Given the description of an element on the screen output the (x, y) to click on. 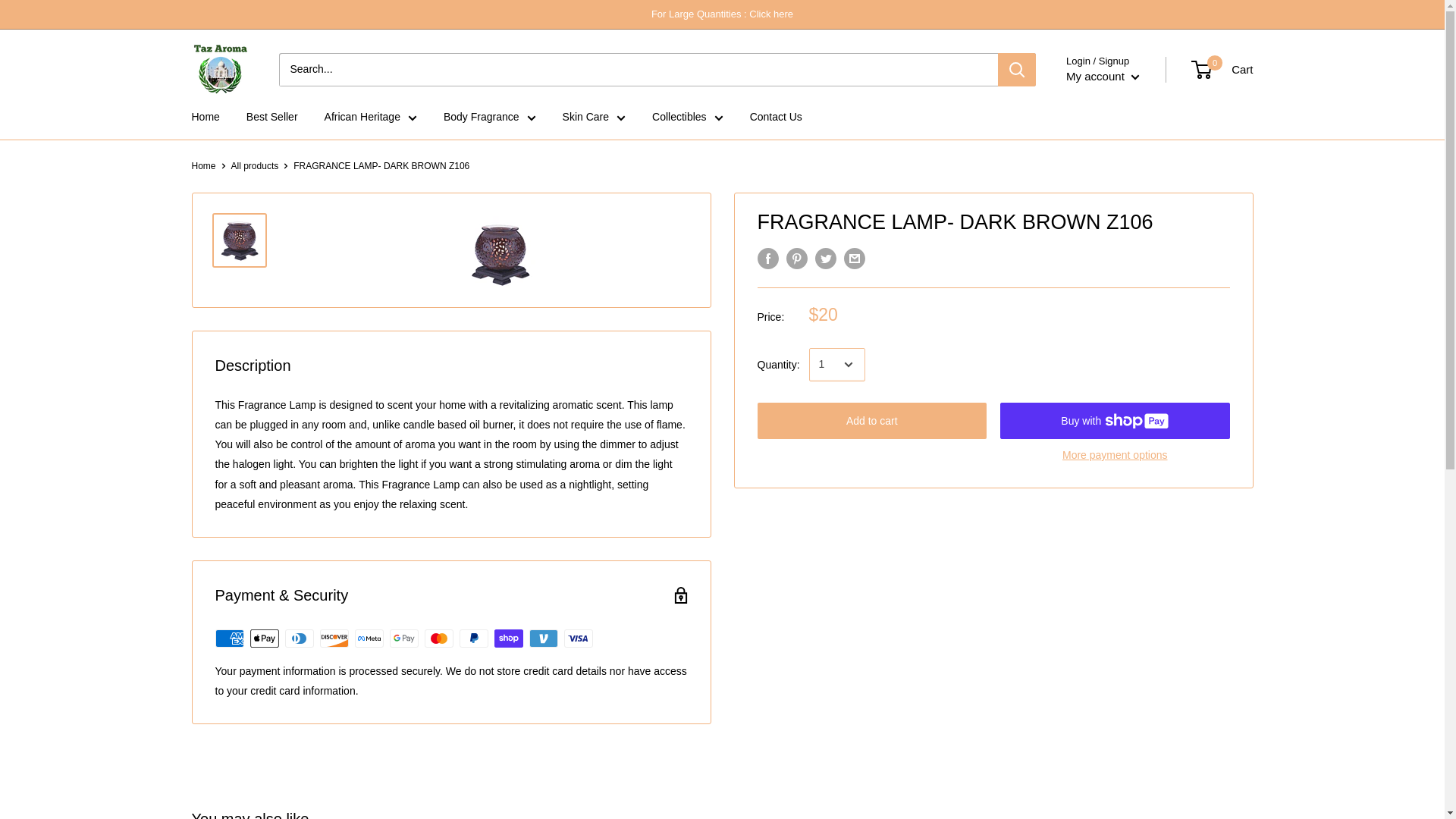
For Large Quantities : Click here (721, 14)
